Given the description of an element on the screen output the (x, y) to click on. 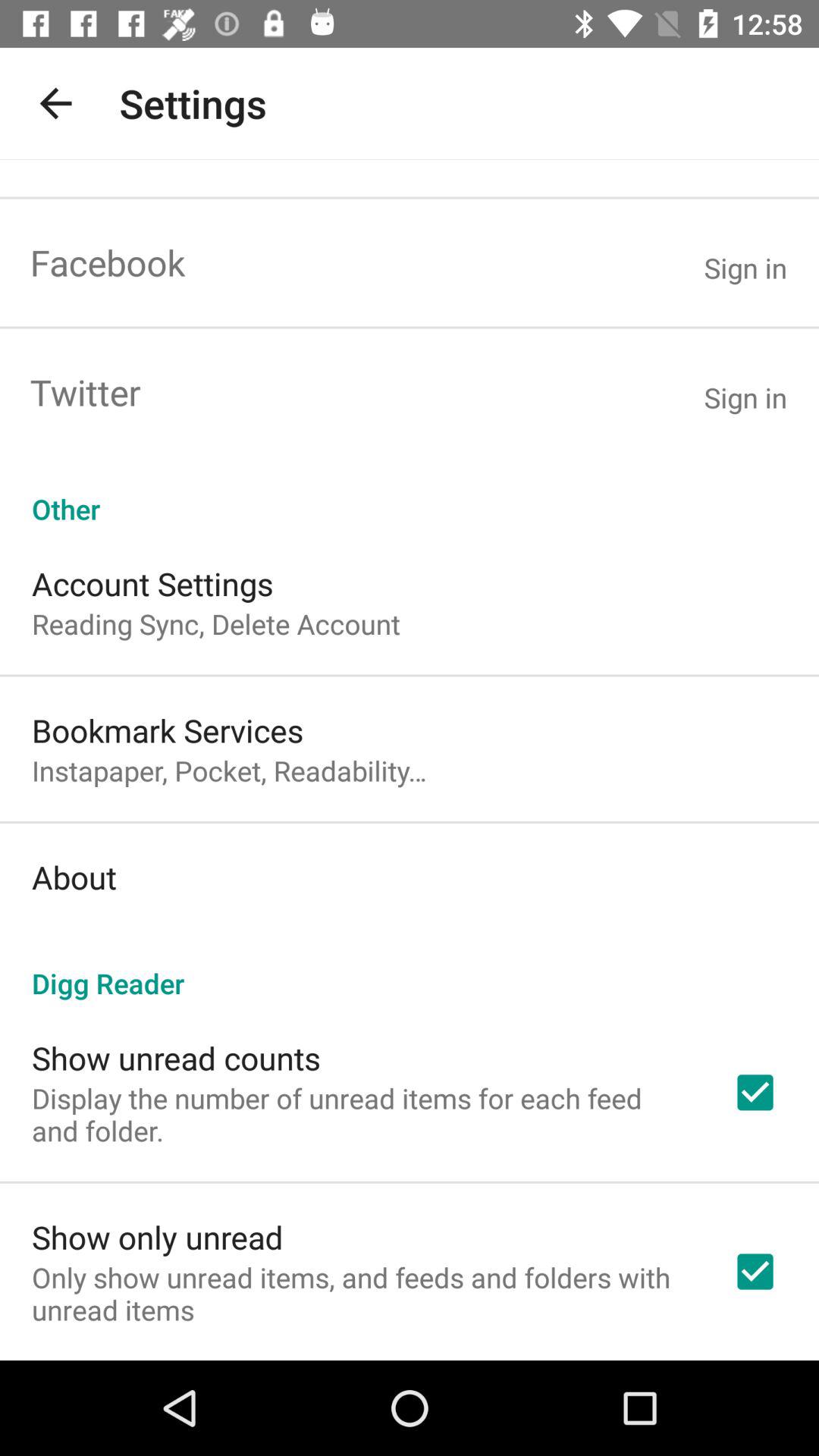
turn on reading sync delete icon (215, 623)
